Given the description of an element on the screen output the (x, y) to click on. 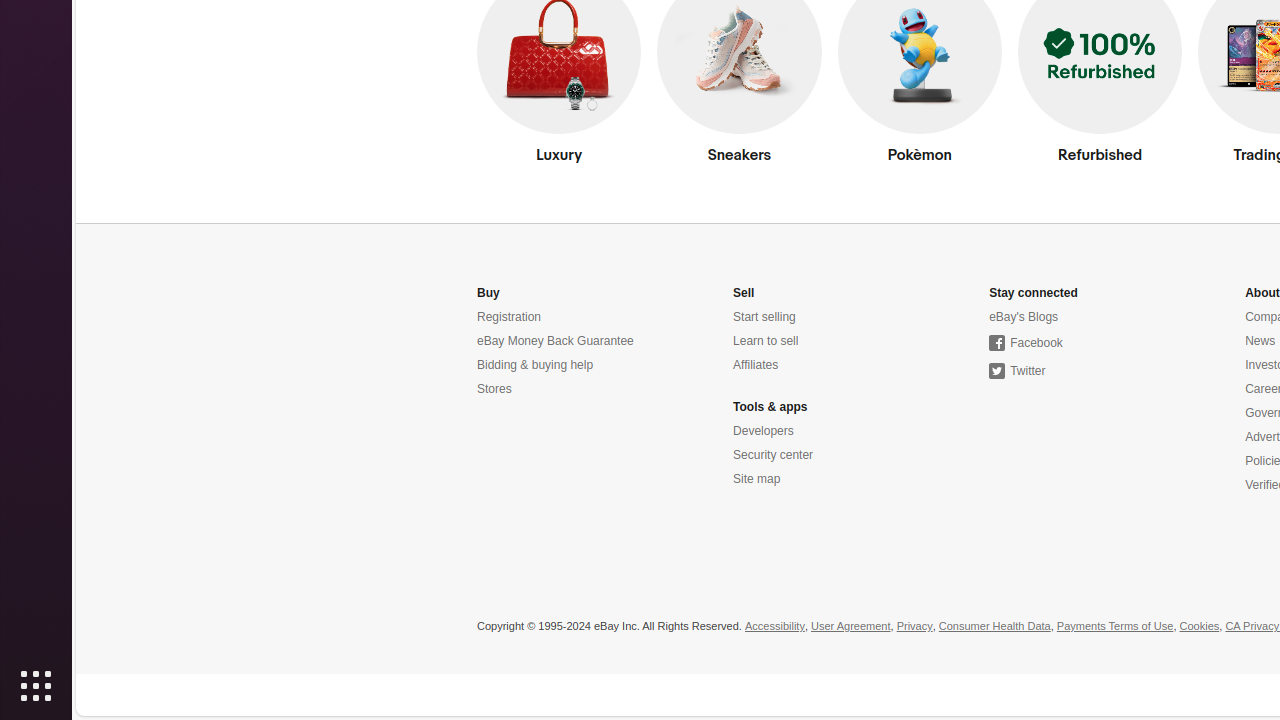
Site map Element type: link (757, 479)
Facebook Element type: link (1026, 343)
Bidding & buying help Element type: link (535, 365)
Registration Element type: link (509, 317)
Buy Element type: link (488, 293)
